Given the description of an element on the screen output the (x, y) to click on. 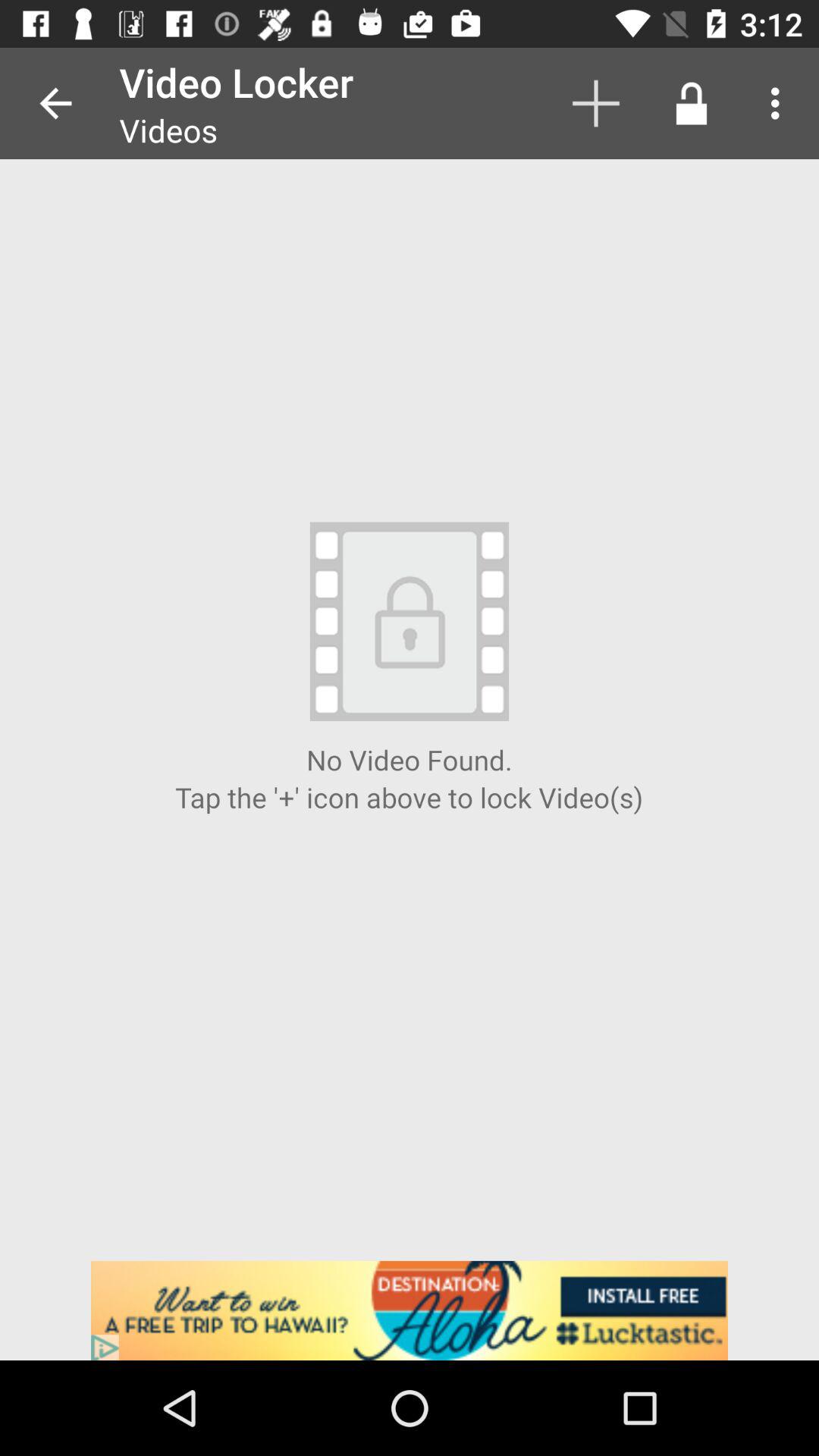
destination aloha advertisement (409, 1310)
